Given the description of an element on the screen output the (x, y) to click on. 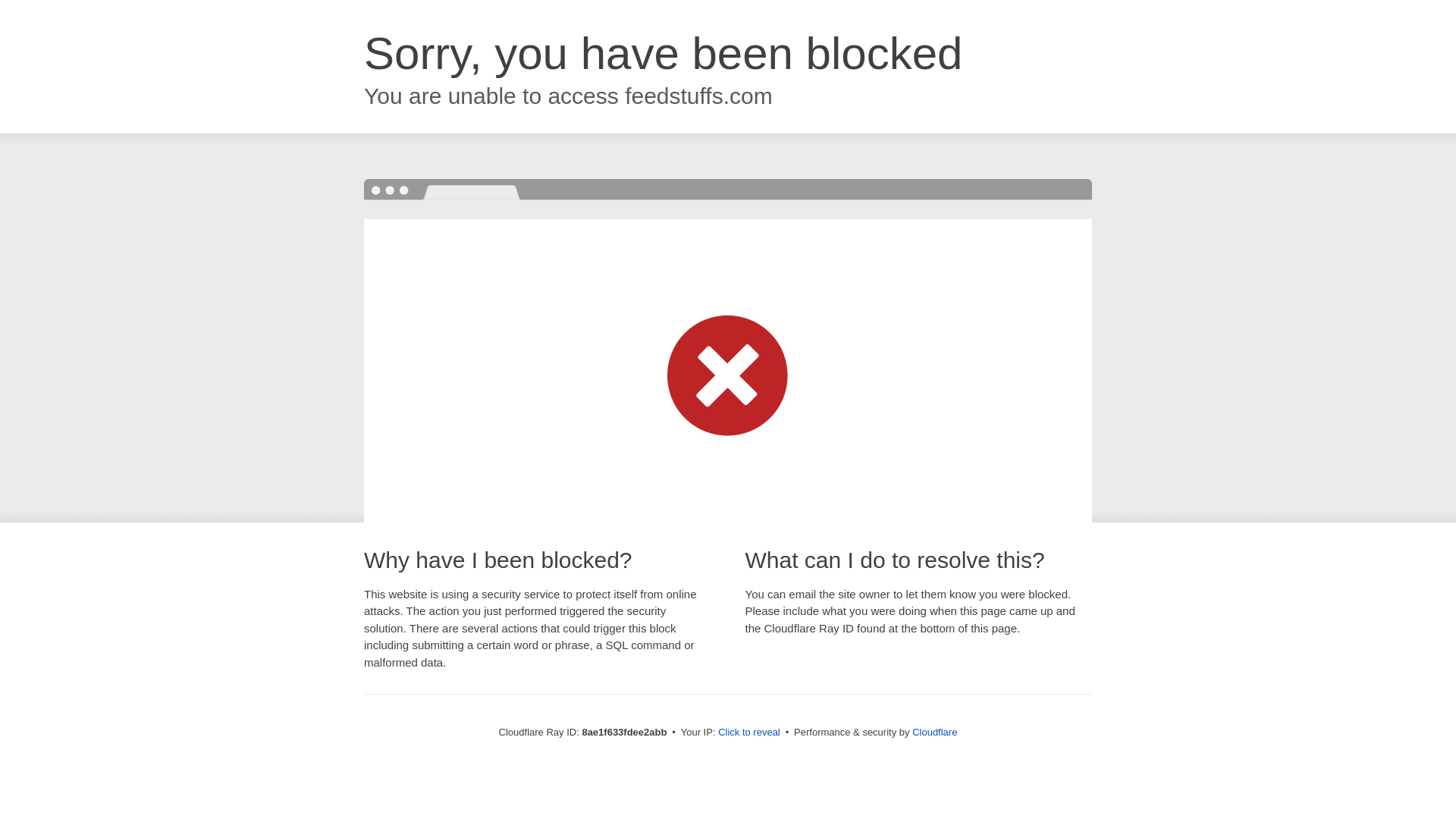
Click to reveal (748, 732)
Cloudflare (934, 731)
